Given the description of an element on the screen output the (x, y) to click on. 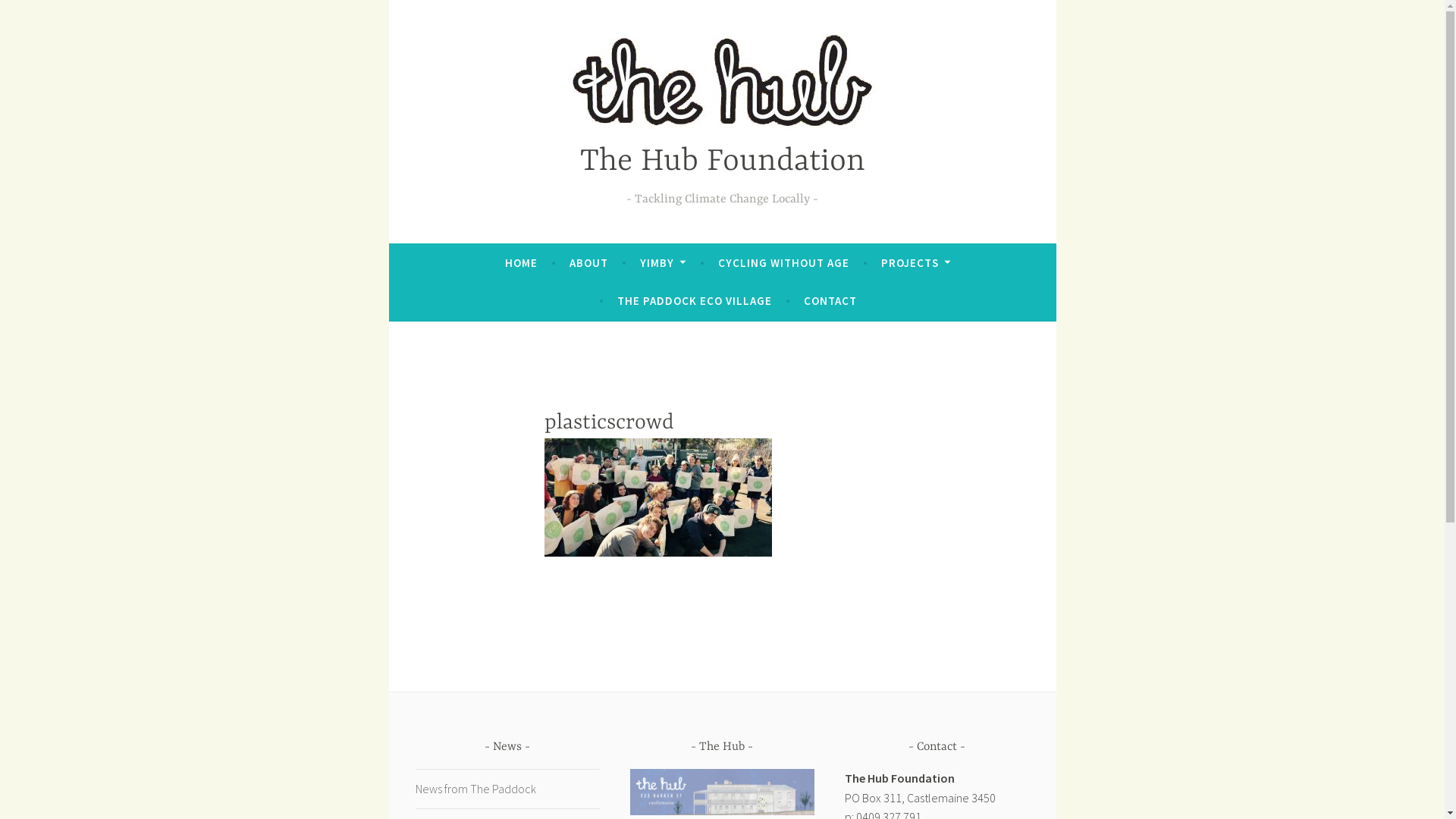
CONTACT Element type: text (829, 300)
PROJECTS Element type: text (915, 262)
CYCLING WITHOUT AGE Element type: text (783, 262)
YIMBY Element type: text (662, 262)
News from The Paddock Element type: text (475, 788)
THE PADDOCK ECO VILLAGE Element type: text (694, 300)
HOME Element type: text (521, 262)
ABOUT Element type: text (588, 262)
The Hub Foundation Element type: text (721, 161)
